Given the description of an element on the screen output the (x, y) to click on. 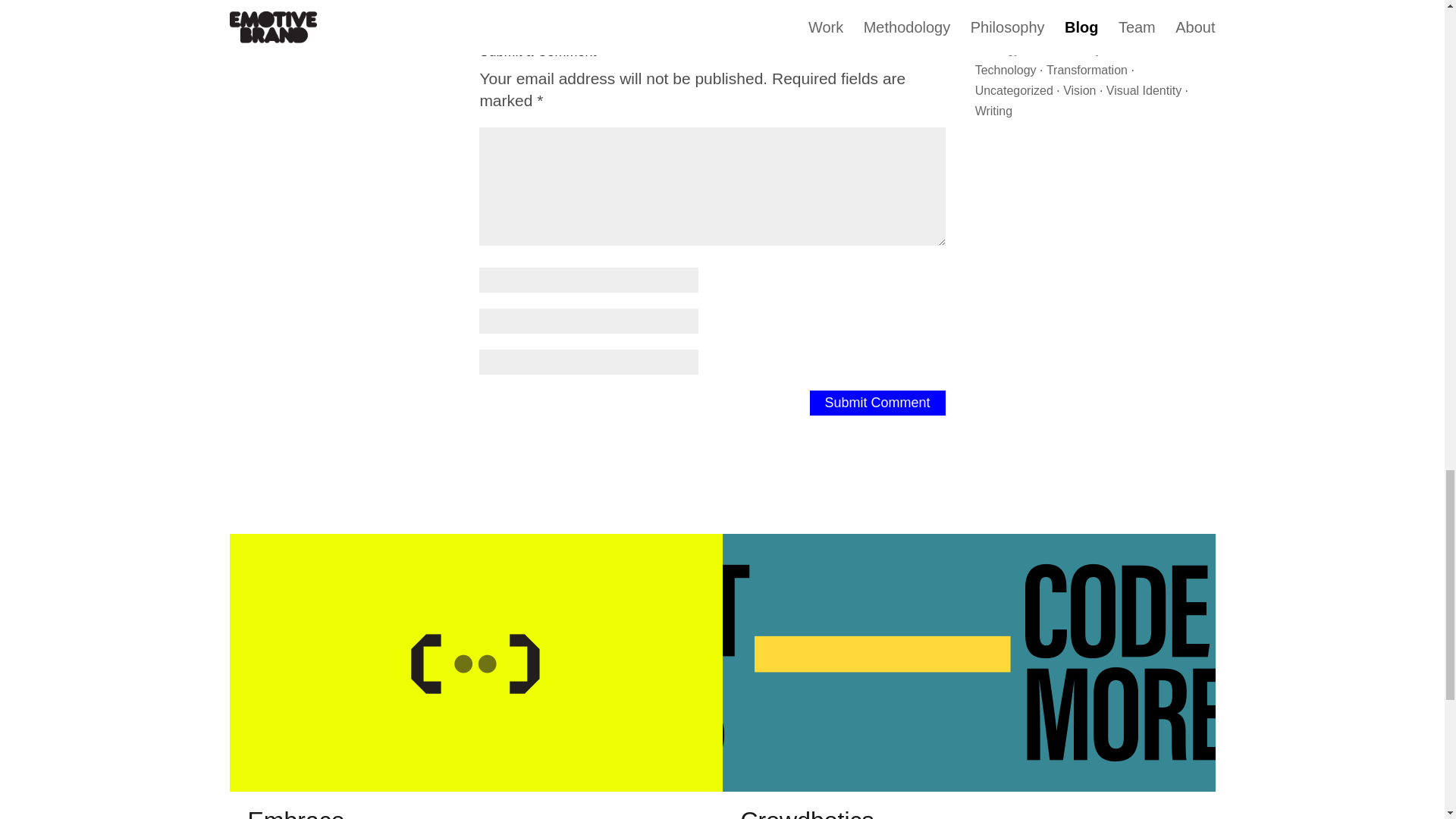
Submit Comment (876, 402)
Submit Comment (876, 402)
